Given the description of an element on the screen output the (x, y) to click on. 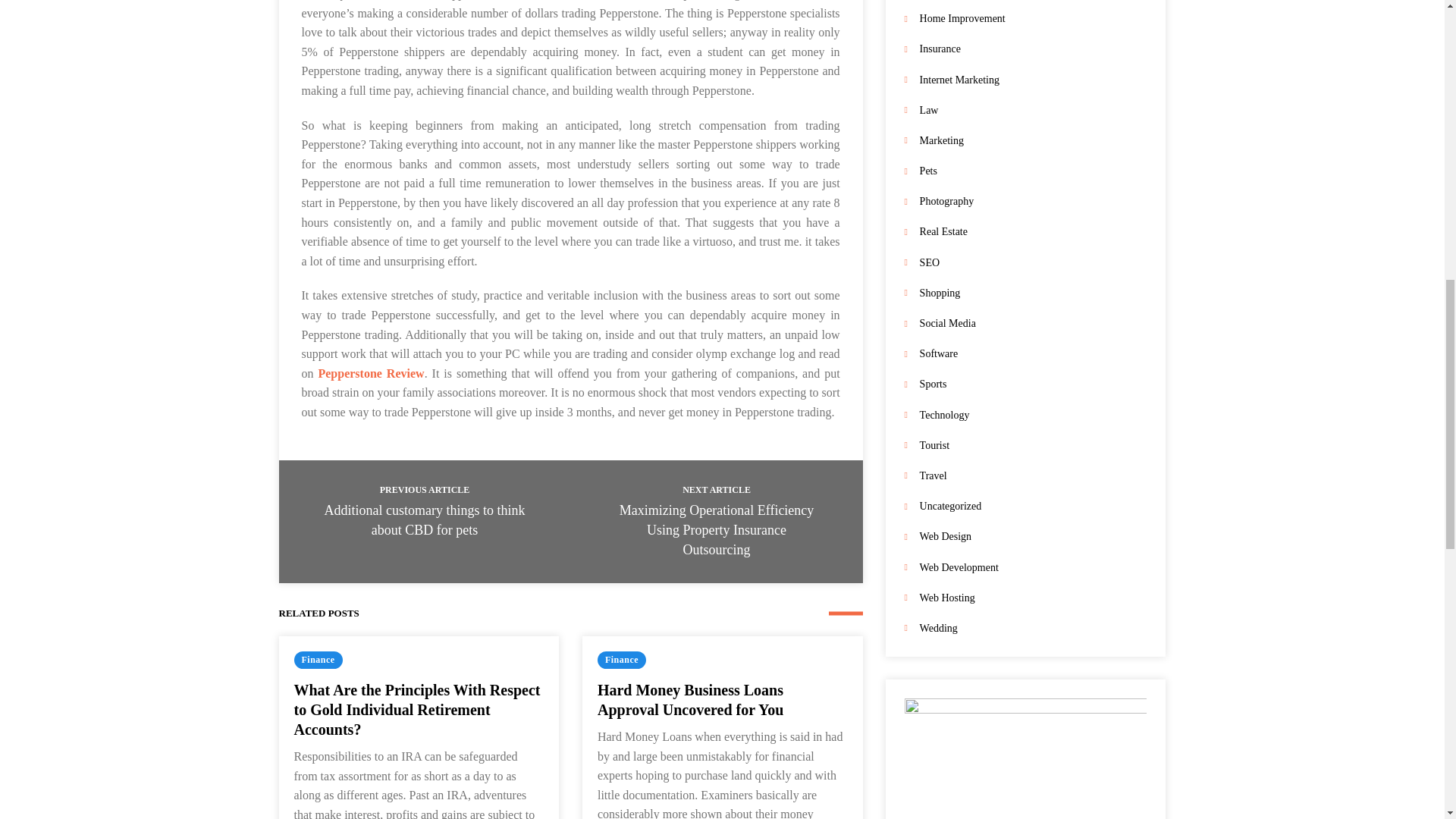
Hard Money Business Loans Approval Uncovered for You (689, 699)
Additional customary things to think about CBD for pets (424, 519)
Finance (318, 660)
View all posts in Finance (318, 660)
Finance (621, 660)
View all posts in Finance (621, 660)
Pepperstone Review (370, 373)
Hard Money Business Loans Approval Uncovered for You (689, 699)
